Given the description of an element on the screen output the (x, y) to click on. 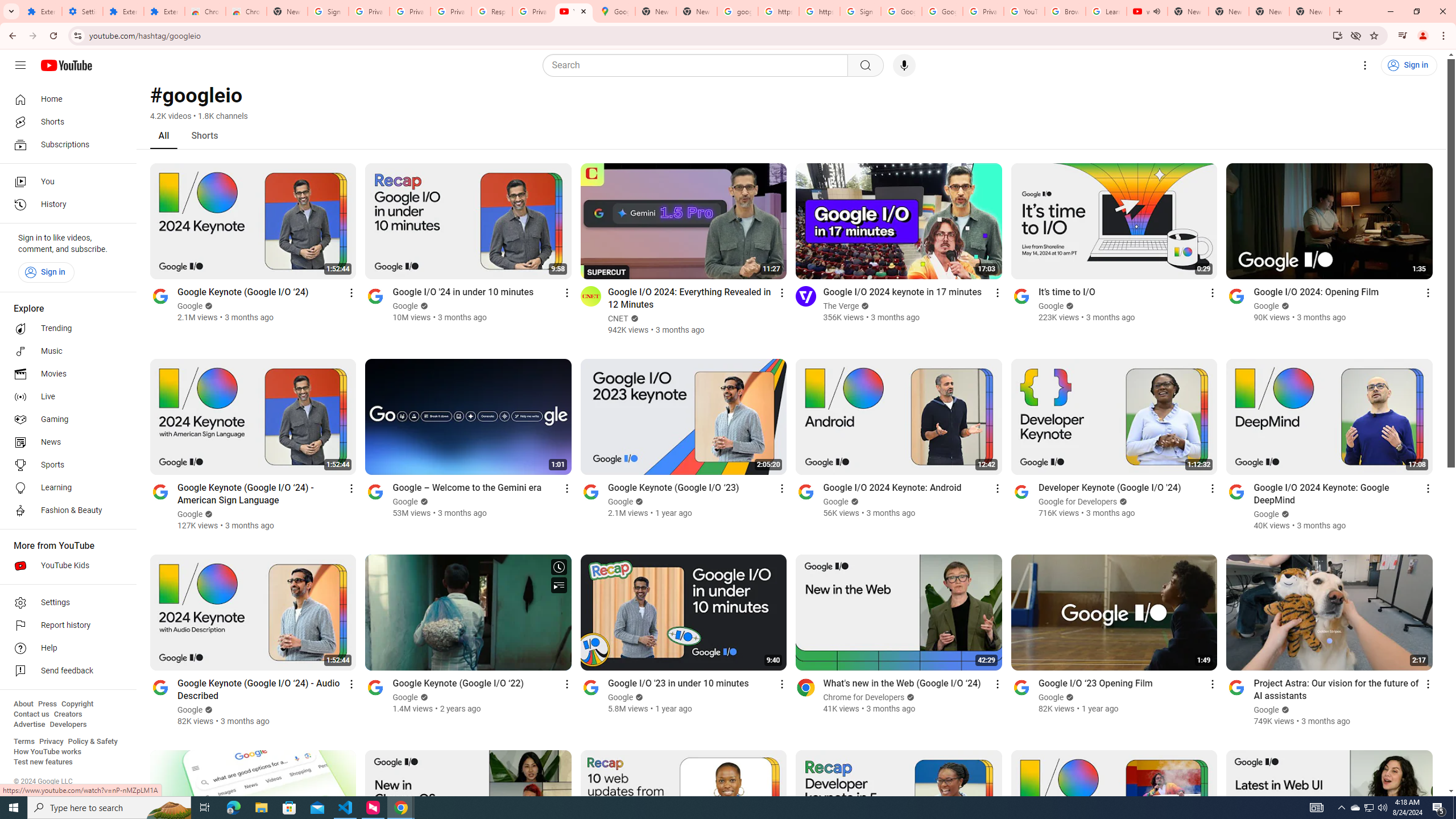
Settings (64, 602)
Action menu (1427, 683)
Advertise (29, 724)
YouTube (573, 11)
Extensions (41, 11)
Control your music, videos, and more (1402, 35)
Search with your voice (903, 65)
Settings (81, 11)
